Given the description of an element on the screen output the (x, y) to click on. 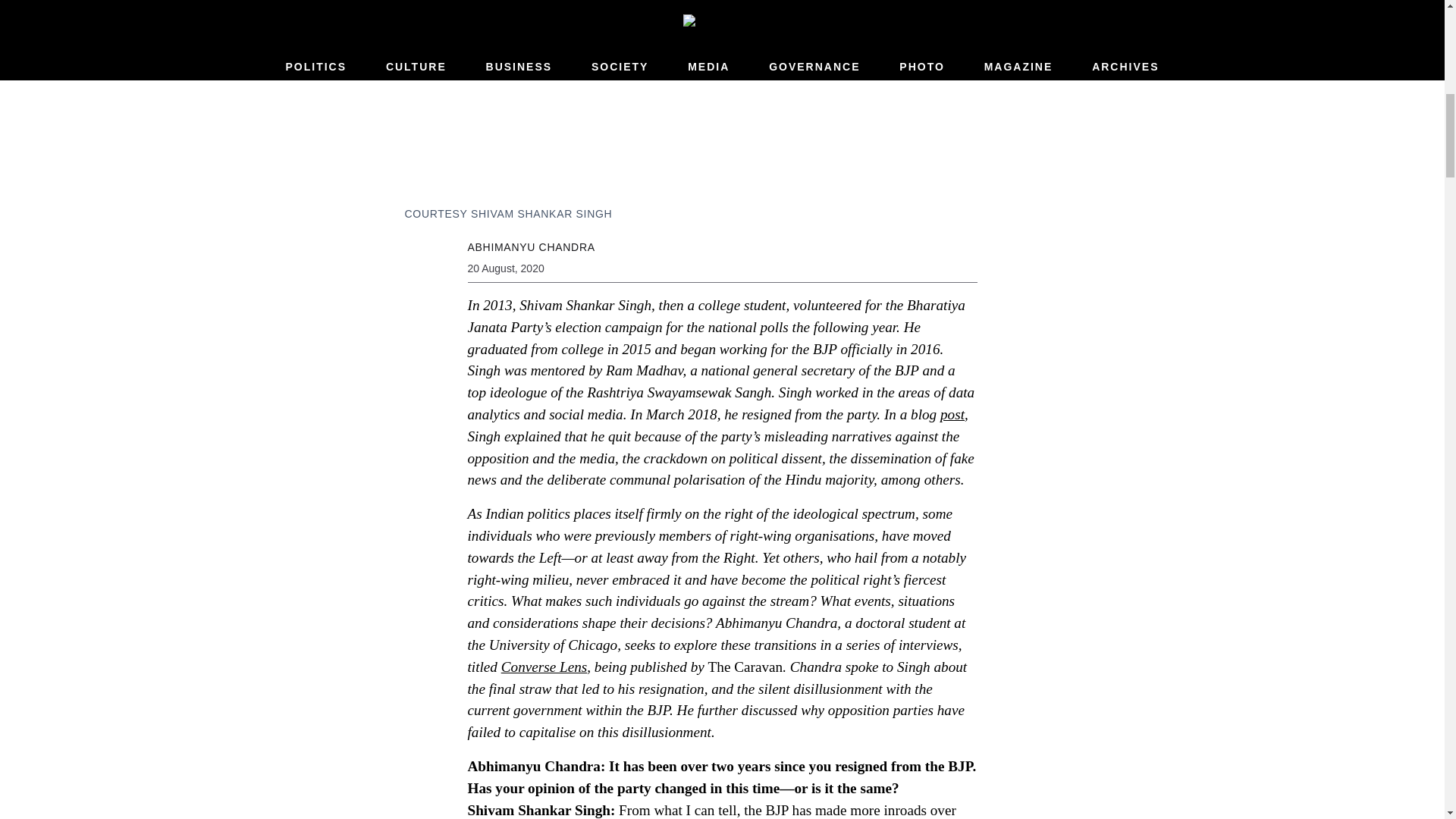
post (951, 414)
ABHIMANYU CHANDRA (530, 246)
Converse Lens (544, 666)
